Given the description of an element on the screen output the (x, y) to click on. 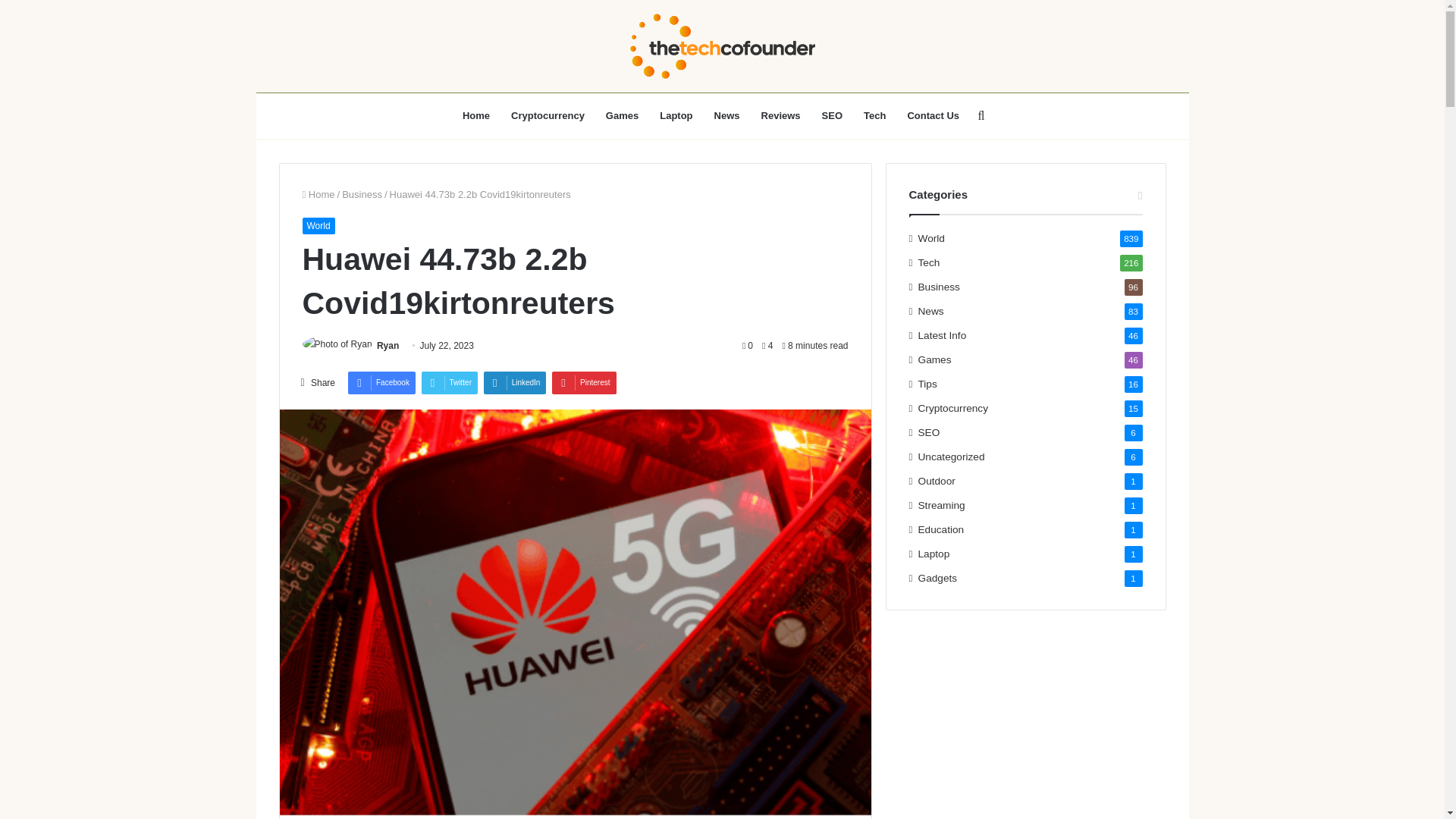
Tech Cofounder (722, 46)
Pinterest (583, 382)
Business (361, 194)
Pinterest (583, 382)
Twitter (449, 382)
Cryptocurrency (547, 115)
LinkedIn (515, 382)
Reviews (780, 115)
Tech (874, 115)
Facebook (380, 382)
